Given the description of an element on the screen output the (x, y) to click on. 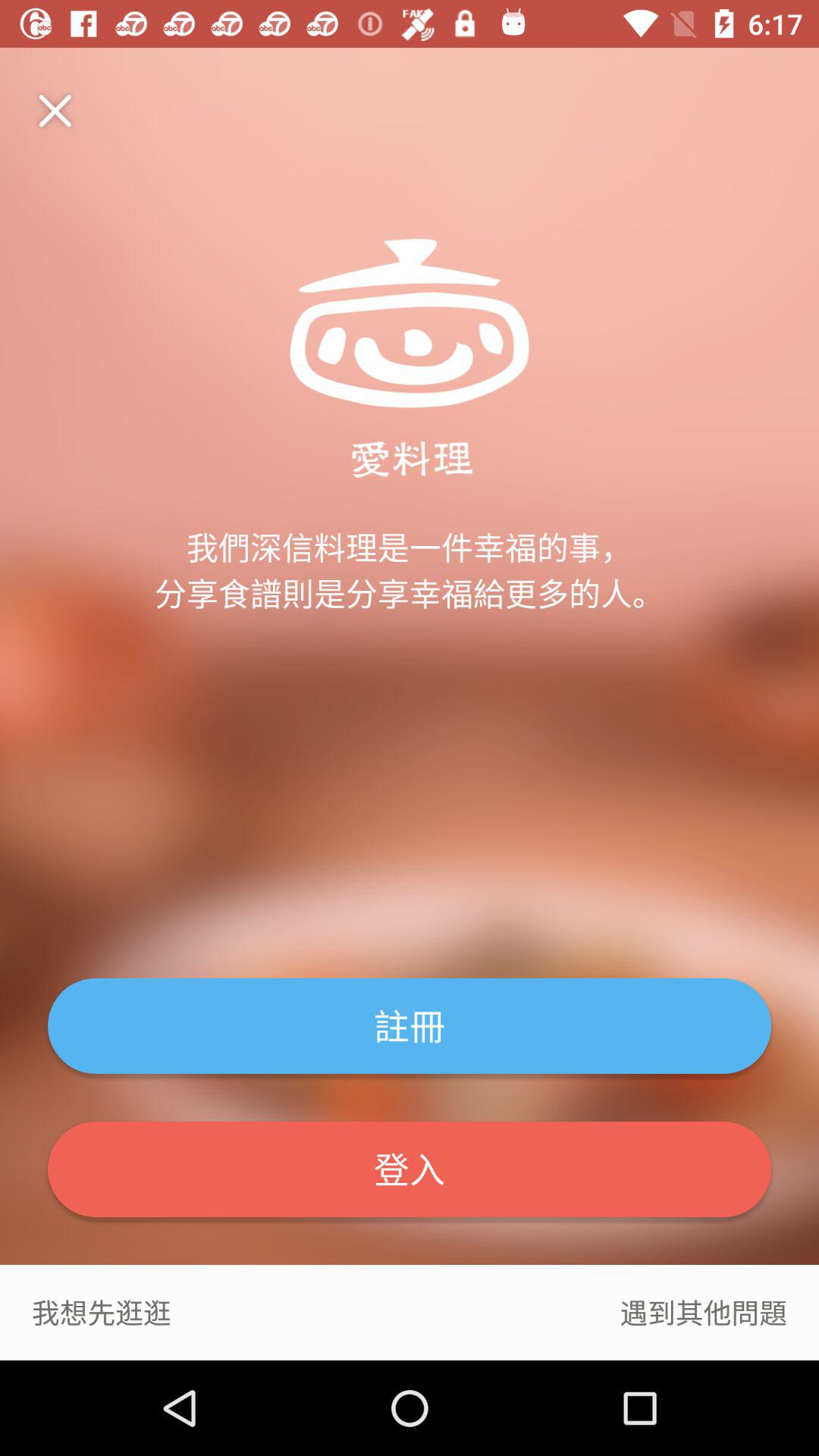
choose item at the top left corner (63, 111)
